Given the description of an element on the screen output the (x, y) to click on. 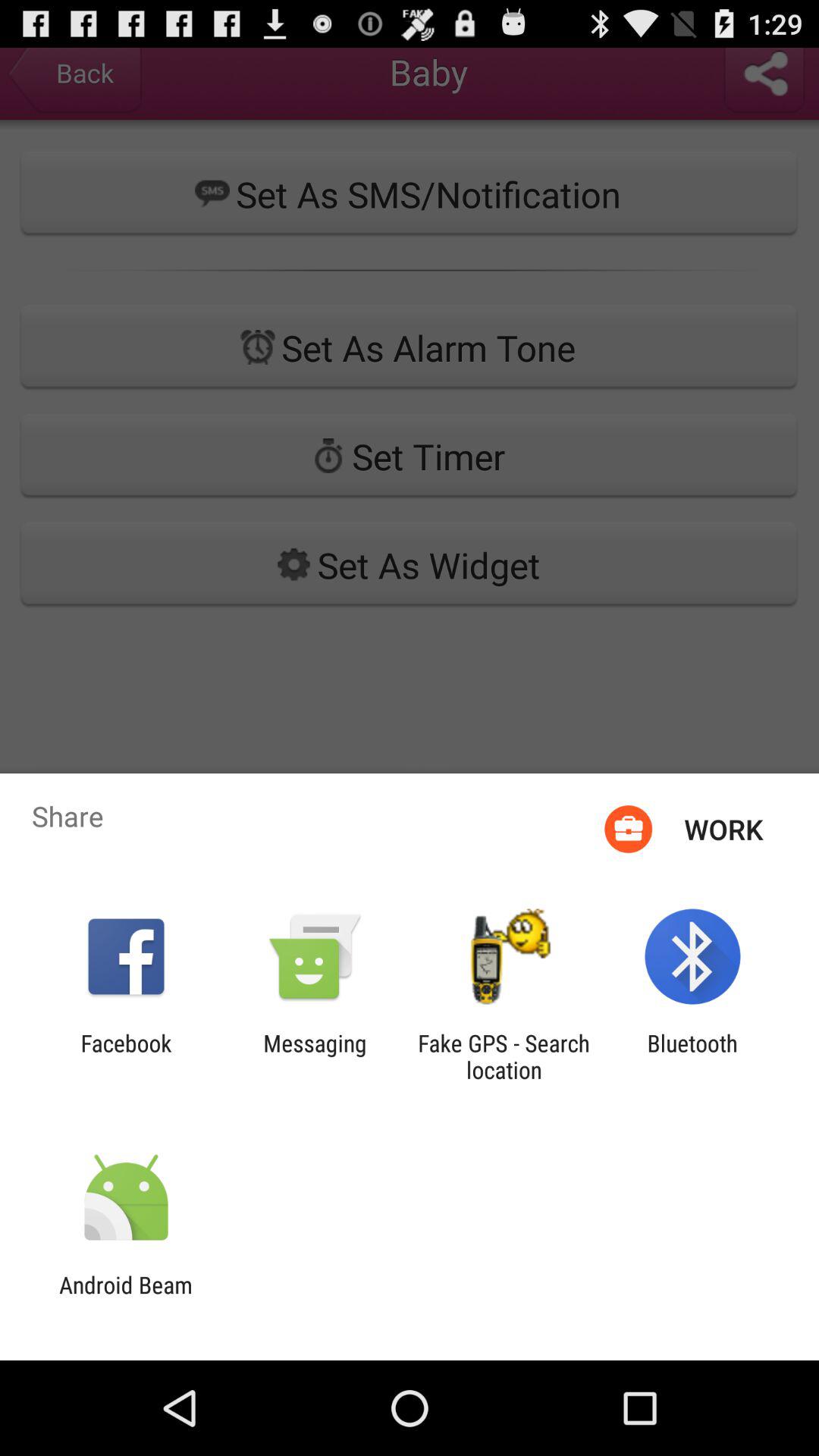
launch the item next to the fake gps search (314, 1056)
